Given the description of an element on the screen output the (x, y) to click on. 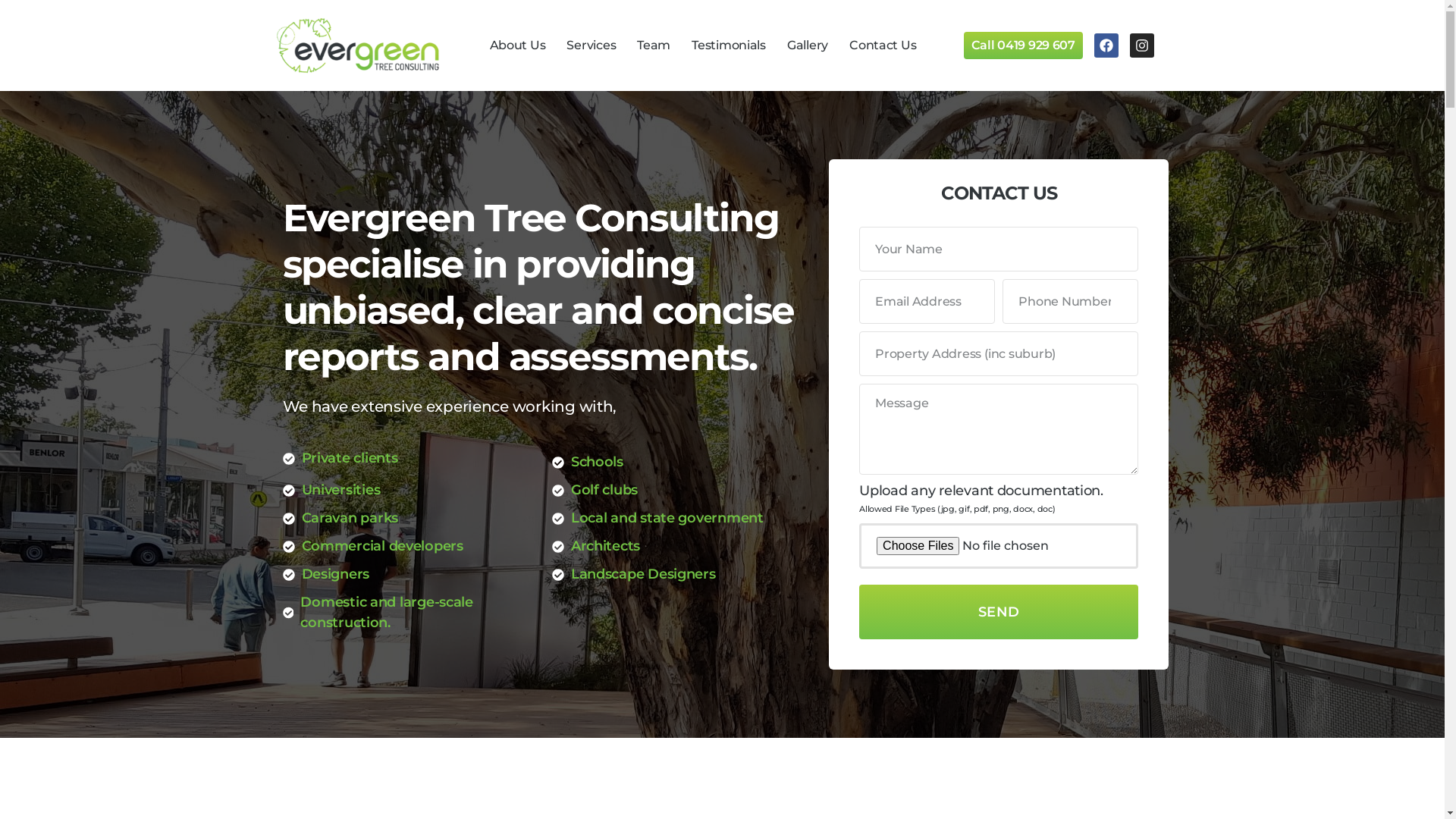
About Us Element type: text (517, 45)
Testimonials Element type: text (728, 45)
Call 0419 929 607 Element type: text (1022, 45)
SEND Element type: text (998, 611)
Gallery Element type: text (807, 45)
Services Element type: text (590, 45)
Contact Us Element type: text (882, 45)
Team Element type: text (653, 45)
